Given the description of an element on the screen output the (x, y) to click on. 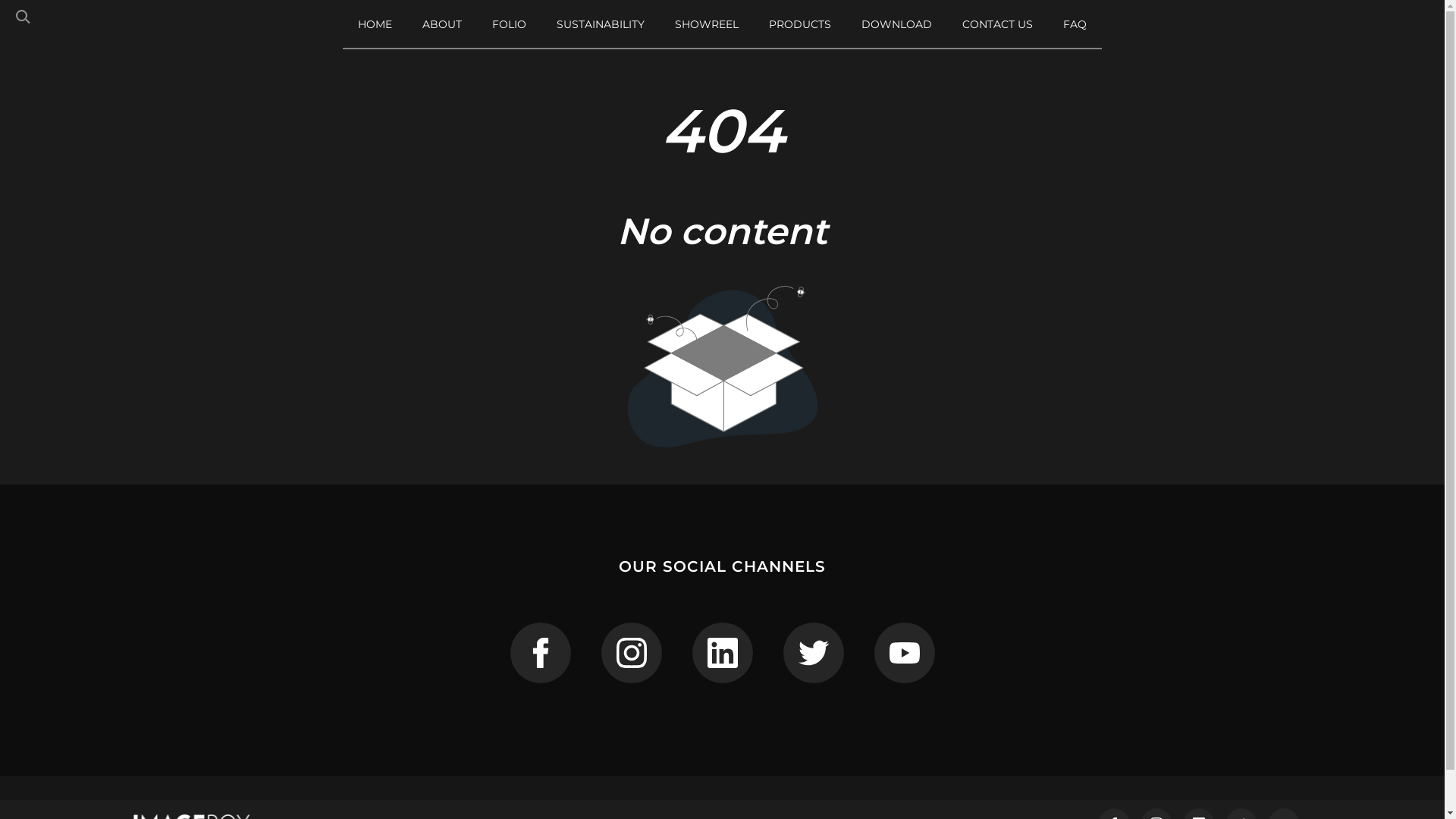
FAQ Element type: text (1074, 24)
SHOWREEL Element type: text (706, 24)
ImageBox on Instagram Element type: hover (539, 652)
SUSTAINABILITY Element type: text (600, 24)
ImageBox on Youtube Element type: hover (903, 652)
FOLIO Element type: text (508, 24)
HOME Element type: text (374, 24)
ABOUT Element type: text (441, 24)
DOWNLOAD Element type: text (896, 24)
PRODUCTS Element type: text (799, 24)
ImageBox on Linkedin Element type: hover (721, 652)
ImageBox on Instagram Element type: hover (630, 652)
ImageBox on Twitter Element type: hover (812, 652)
CONTACT US Element type: text (997, 24)
